Given the description of an element on the screen output the (x, y) to click on. 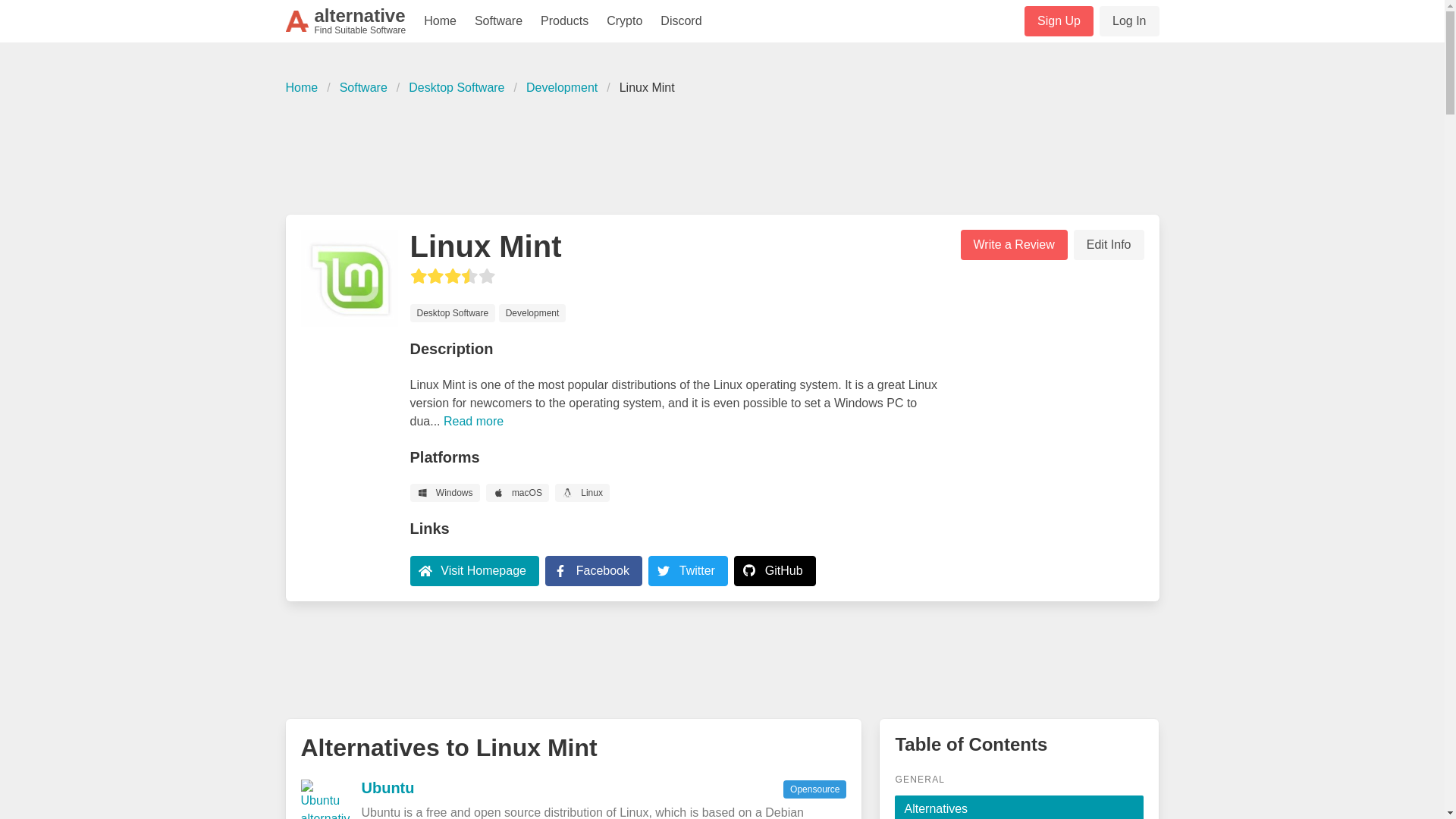
Log In (1128, 20)
Home (345, 21)
Visit Homepage (305, 87)
Facebook (473, 570)
Advertisement (593, 570)
Facebook (721, 152)
Software (602, 570)
Edit Info (363, 87)
Write a Review (1109, 245)
Twitter (1013, 245)
Ubuntu (687, 570)
Linux Mint (387, 787)
Home (647, 87)
Advertisement (439, 21)
